Given the description of an element on the screen output the (x, y) to click on. 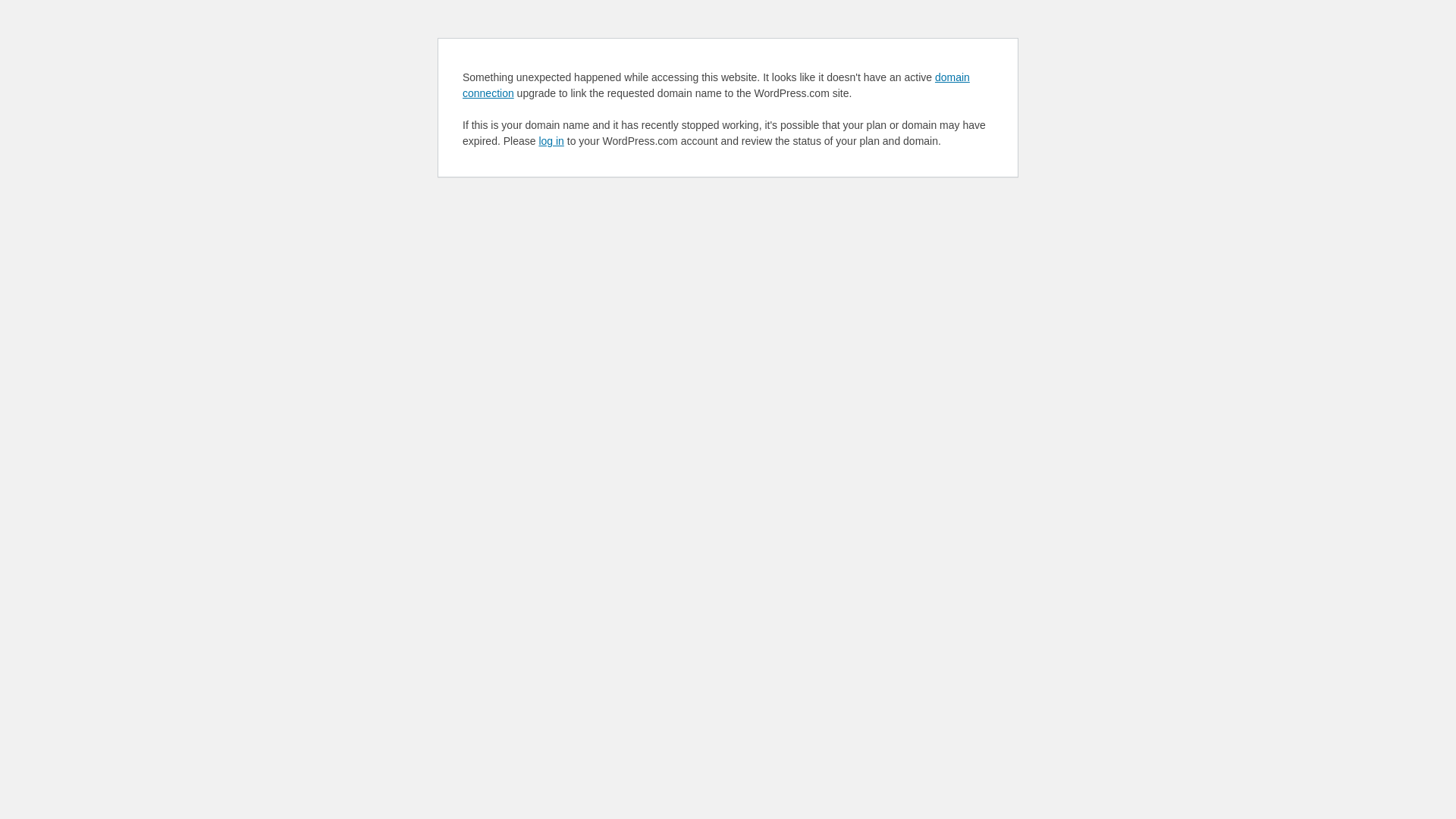
log in Element type: text (550, 140)
domain connection Element type: text (715, 85)
